Given the description of an element on the screen output the (x, y) to click on. 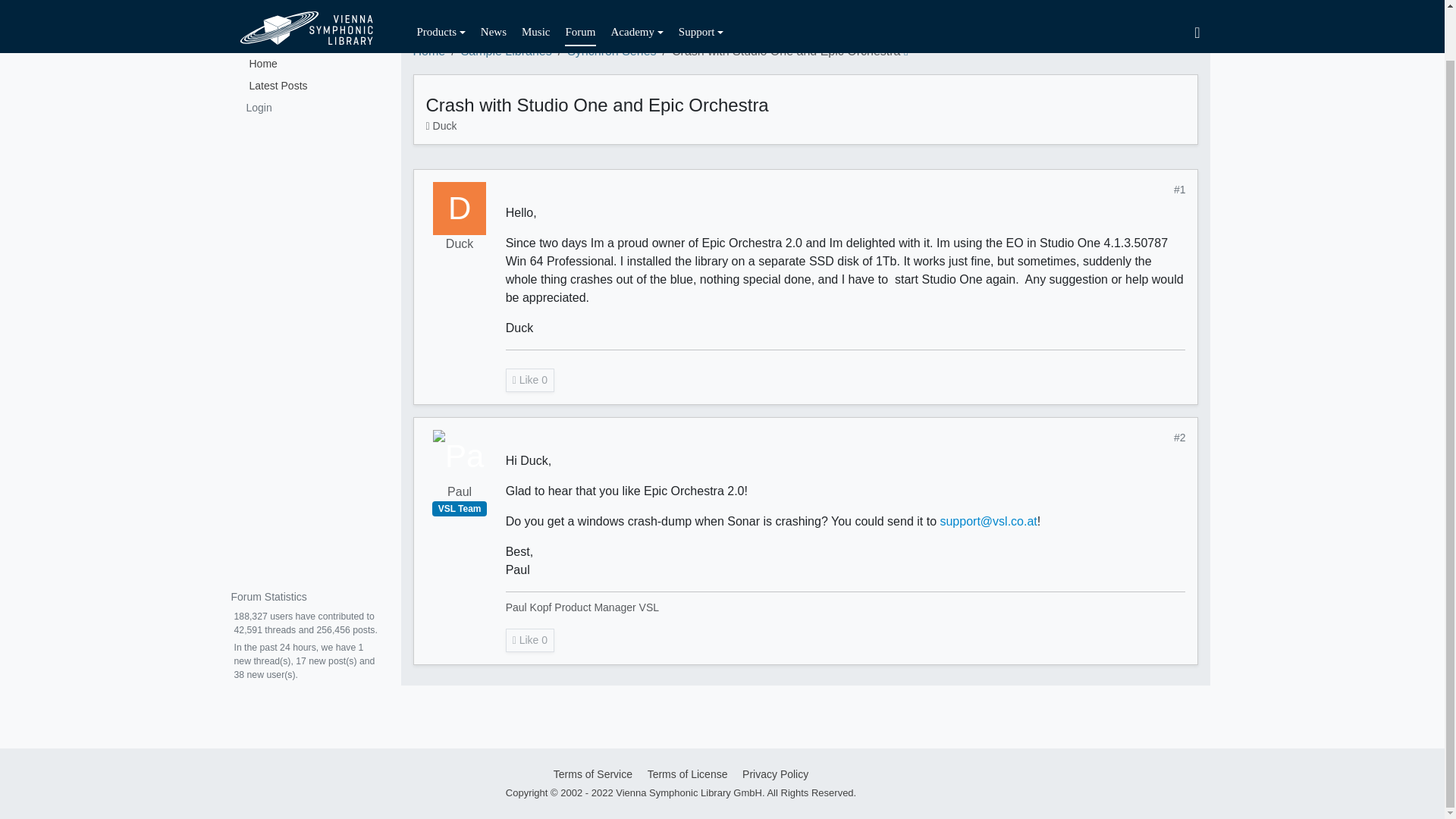
Paul (459, 456)
Paul (458, 492)
Duck (459, 244)
Duck (459, 208)
Duck (444, 125)
Latest Posts (304, 85)
